Given the description of an element on the screen output the (x, y) to click on. 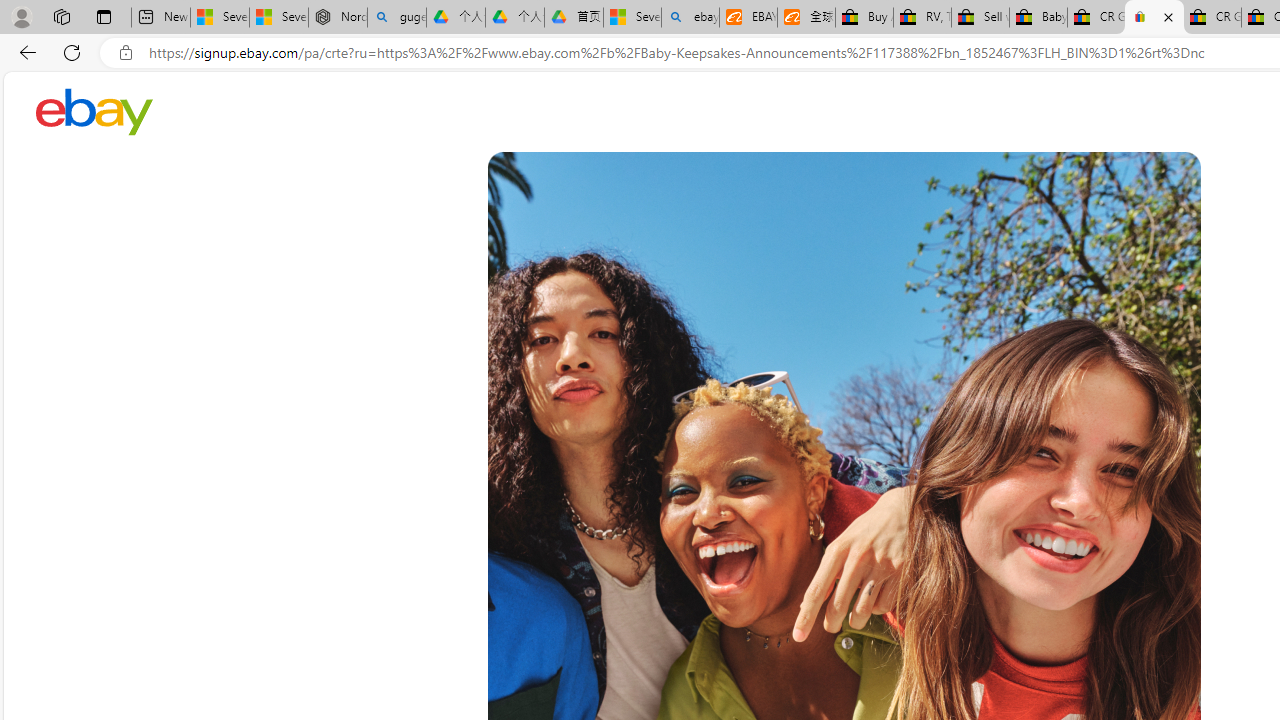
eBay Home (94, 111)
